Given the description of an element on the screen output the (x, y) to click on. 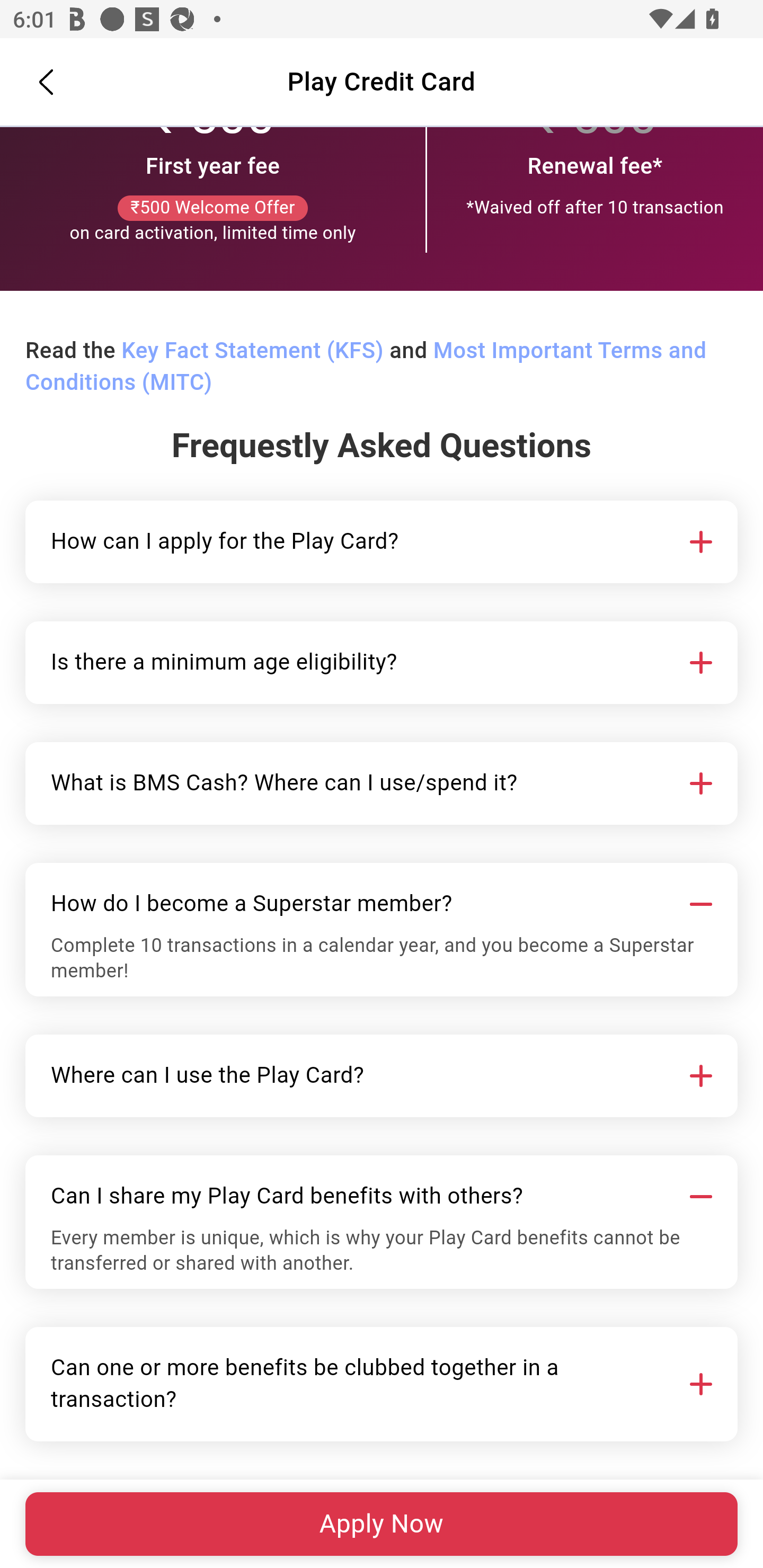
Most Important Terms and Conditions (MITC) (366, 367)
Key Fact Statement (KFS) (252, 351)
